Given the description of an element on the screen output the (x, y) to click on. 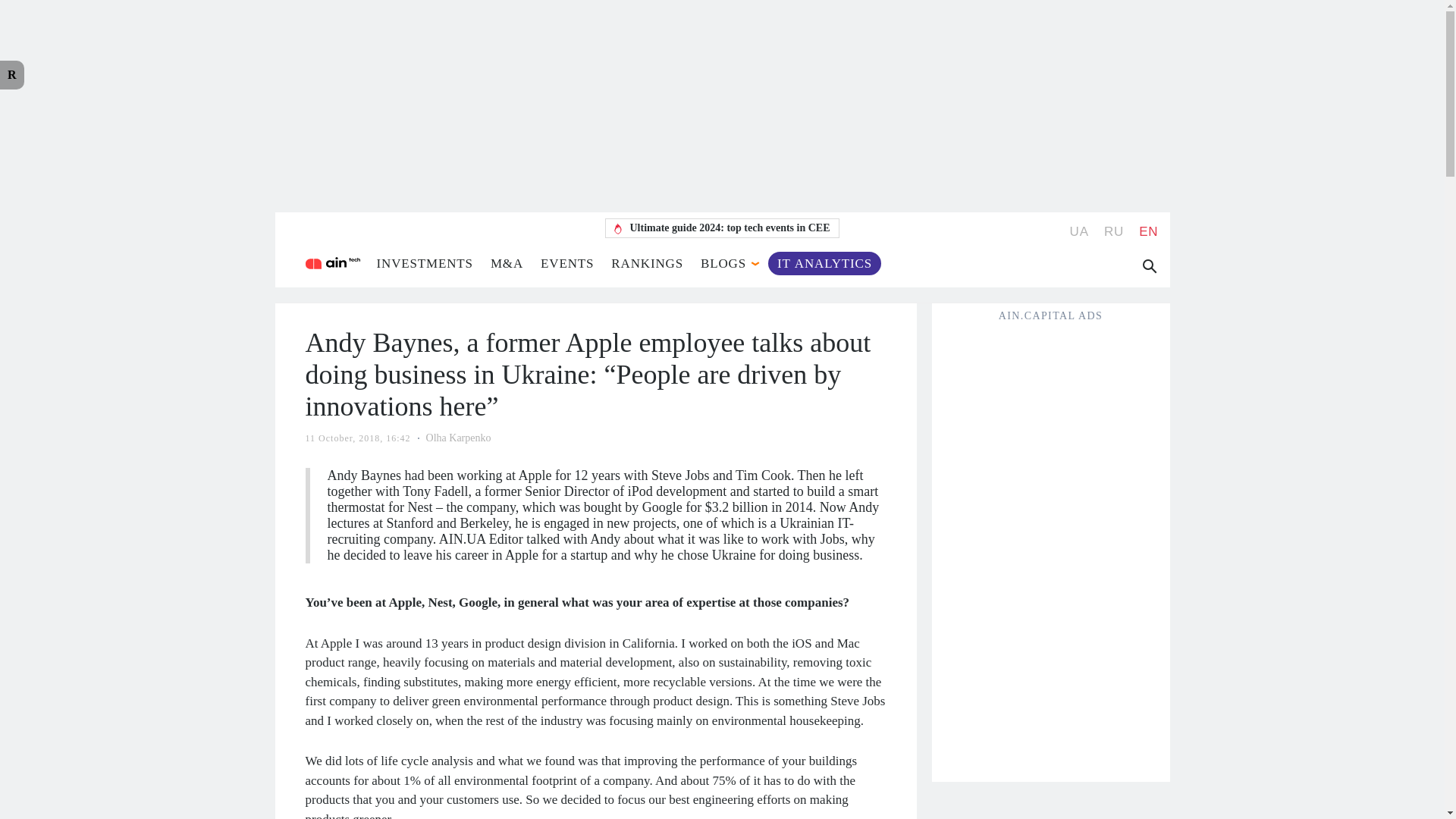
INVESTMENTS (423, 263)
EN (1147, 231)
RANKINGS (646, 263)
BLOGS (722, 263)
EVENTS (567, 263)
UA (1079, 231)
RU (1113, 231)
Ultimate guide 2024: top tech events in CEE (721, 228)
